Given the description of an element on the screen output the (x, y) to click on. 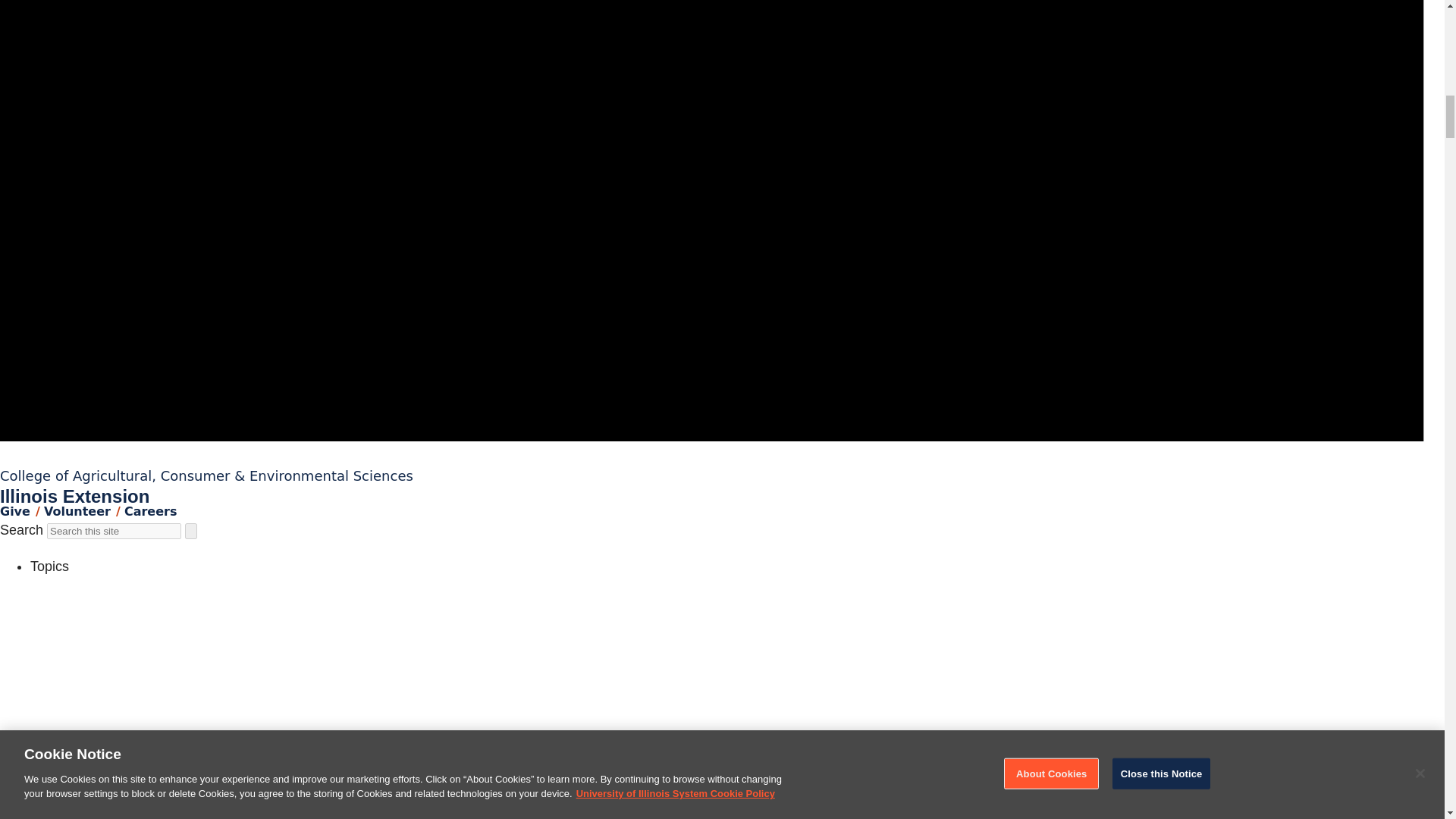
Volunteer (76, 511)
Topics (49, 566)
Careers (150, 511)
Give (15, 511)
Illinois Extension (74, 496)
